Given the description of an element on the screen output the (x, y) to click on. 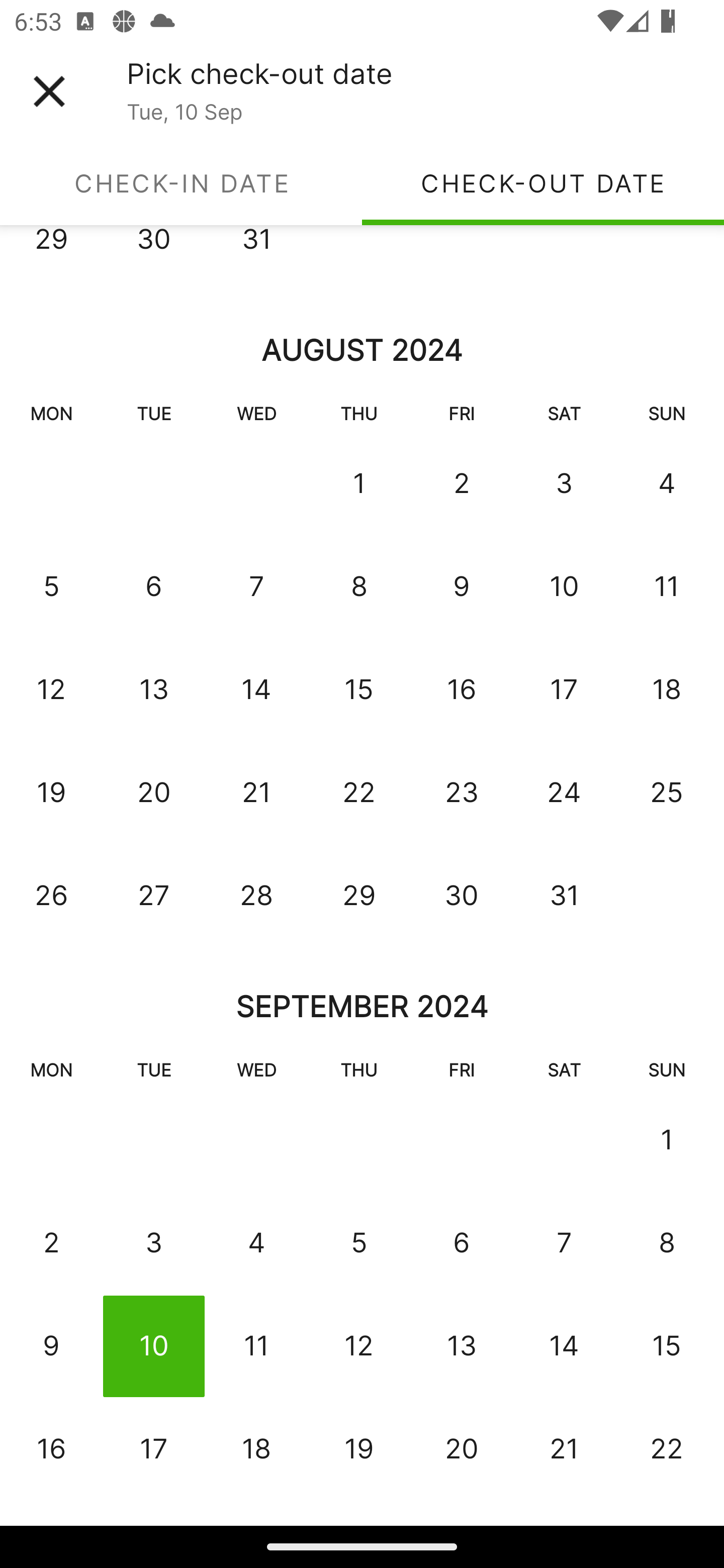
Check-in Date CHECK-IN DATE (181, 183)
